Given the description of an element on the screen output the (x, y) to click on. 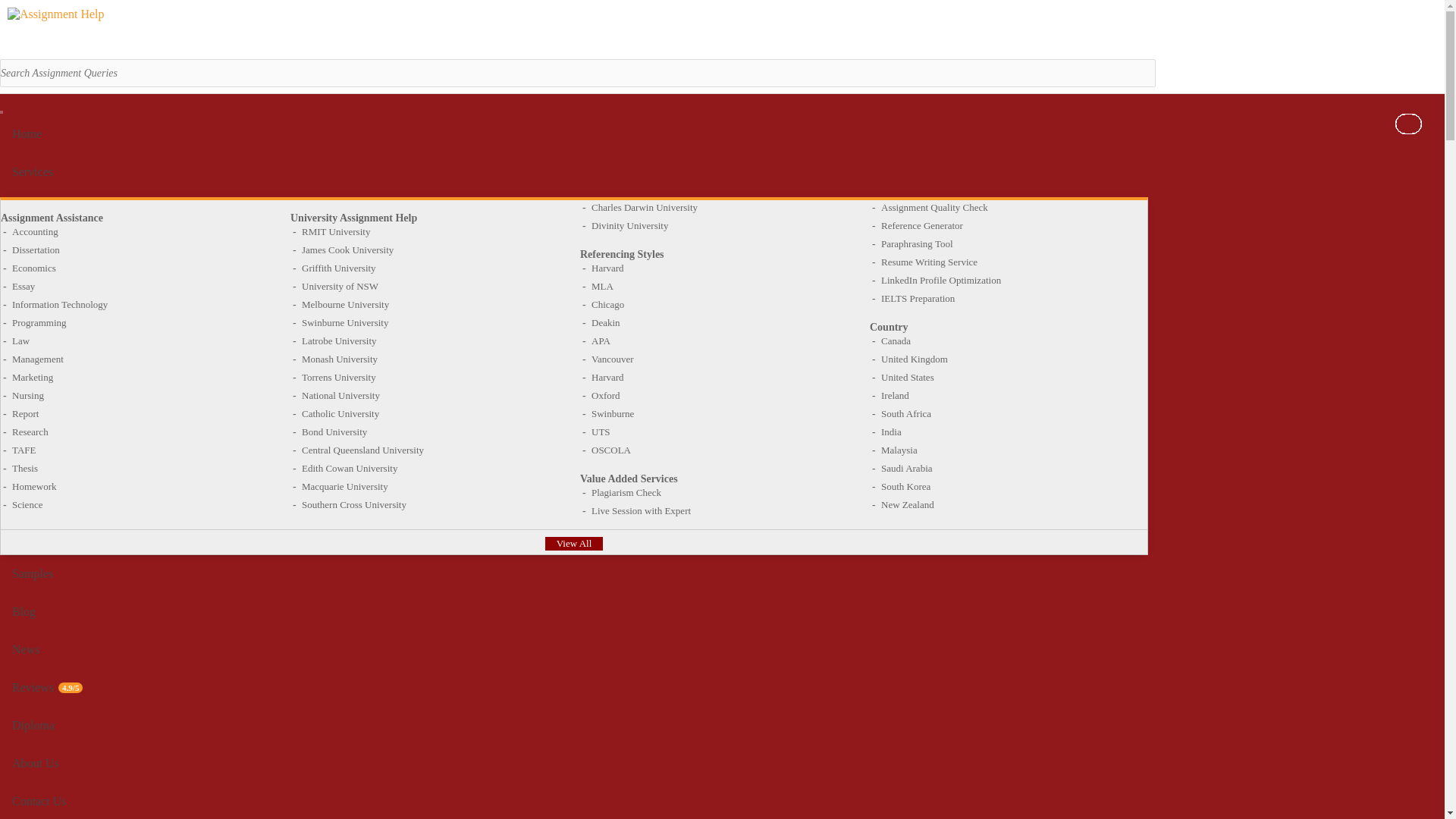
Home (574, 134)
Griffith University (338, 267)
University of NSW (339, 286)
TAFE (22, 449)
Dissertation (35, 249)
Services (574, 171)
Thesis (24, 468)
Law (20, 340)
Monash University (339, 358)
Research (29, 431)
James Cook University (347, 249)
Nursing (27, 395)
Homework (33, 486)
University Assignment Help (352, 217)
Economics (33, 267)
